Given the description of an element on the screen output the (x, y) to click on. 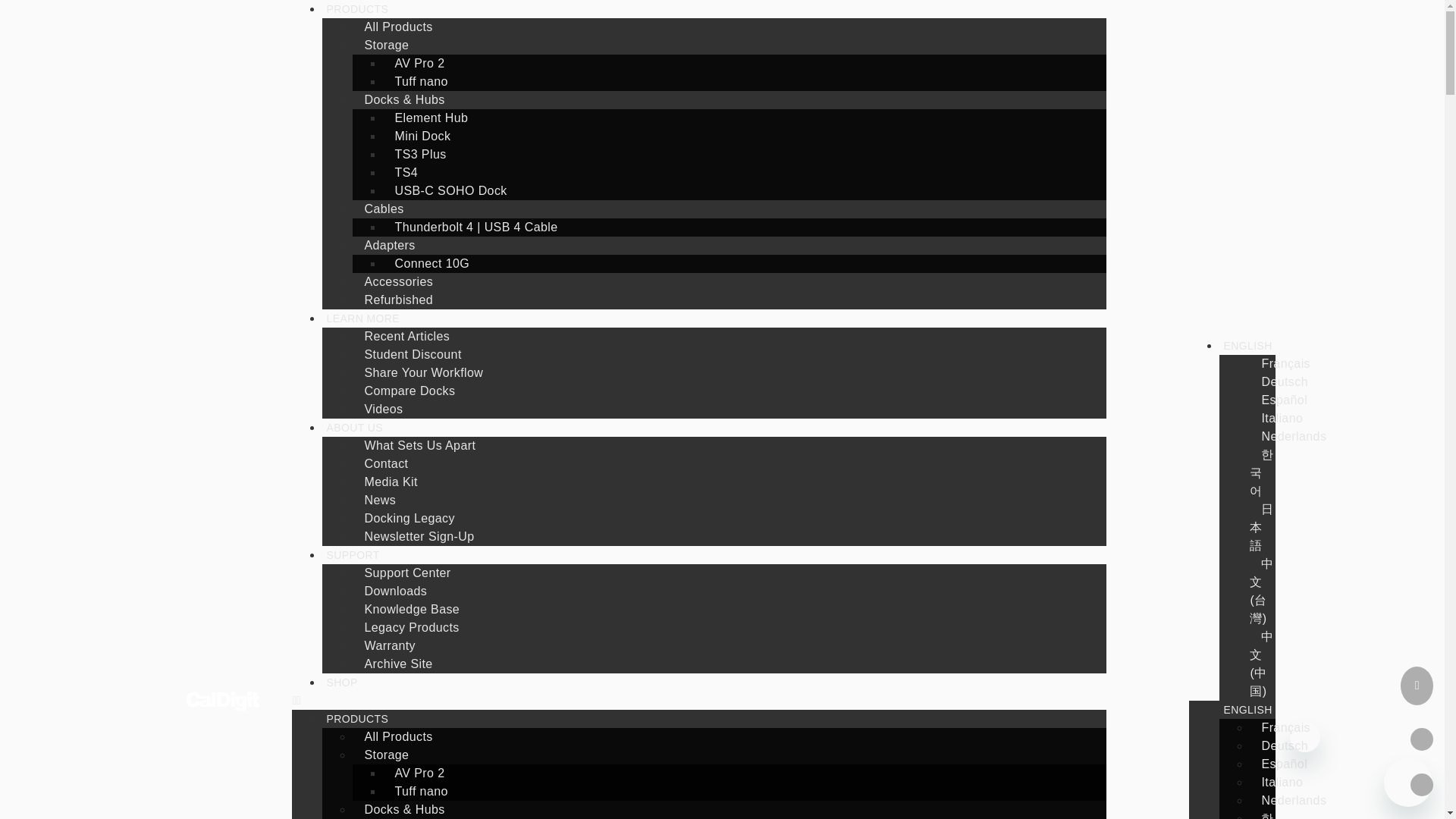
Adapters (385, 244)
Videos (379, 408)
CalDigit Logo (222, 700)
News (375, 500)
LEARN MORE (362, 318)
TS4 (402, 172)
Recent Articles (402, 336)
TS3 Plus (415, 154)
USB-C SOHO Dock (446, 190)
PRODUCTS (356, 11)
Student Discount (408, 354)
Share Your Workflow (419, 372)
All Products (393, 26)
Docking Legacy (405, 518)
Accessories (394, 281)
